Given the description of an element on the screen output the (x, y) to click on. 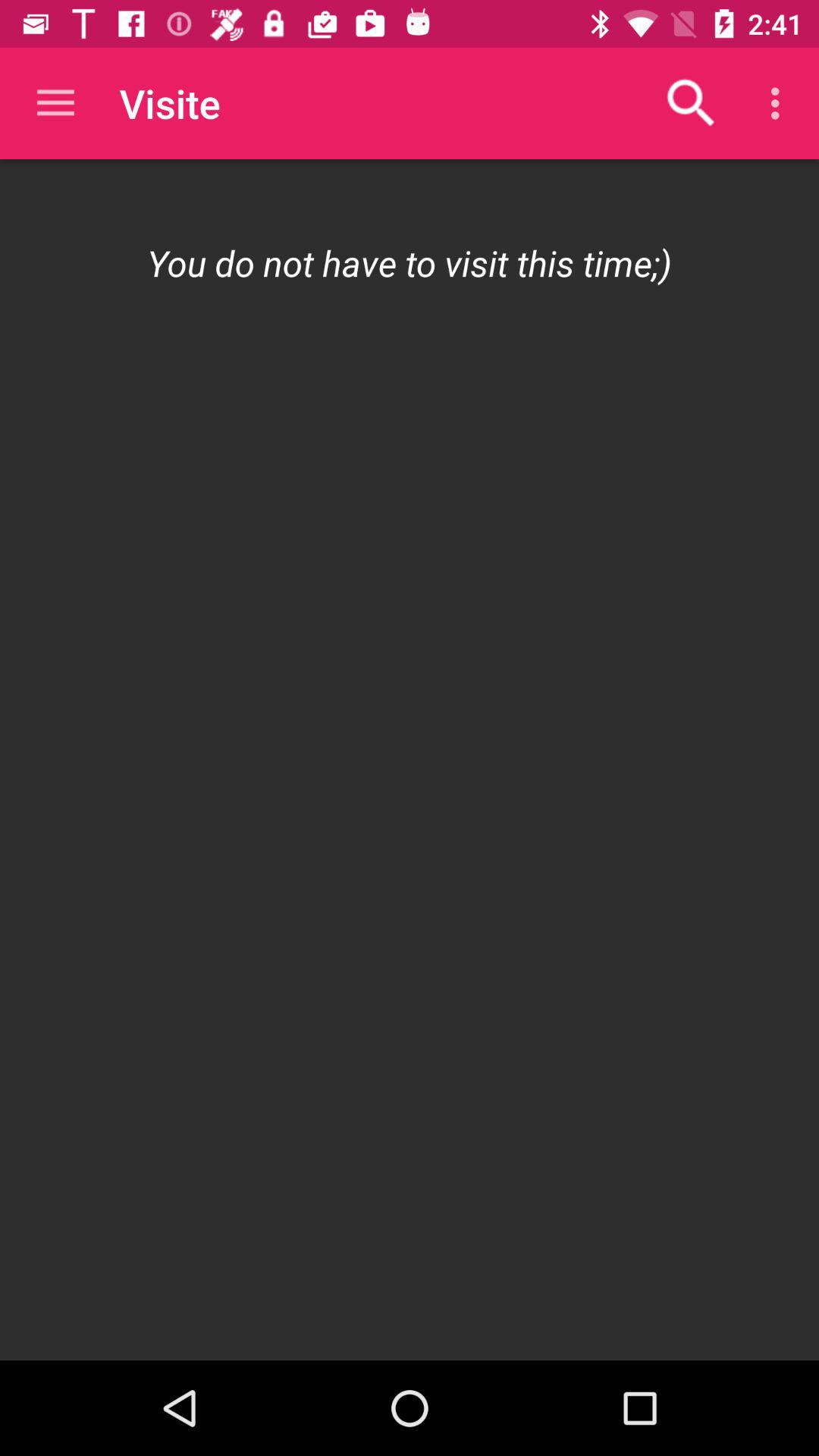
press the icon to the right of the visite icon (691, 103)
